Given the description of an element on the screen output the (x, y) to click on. 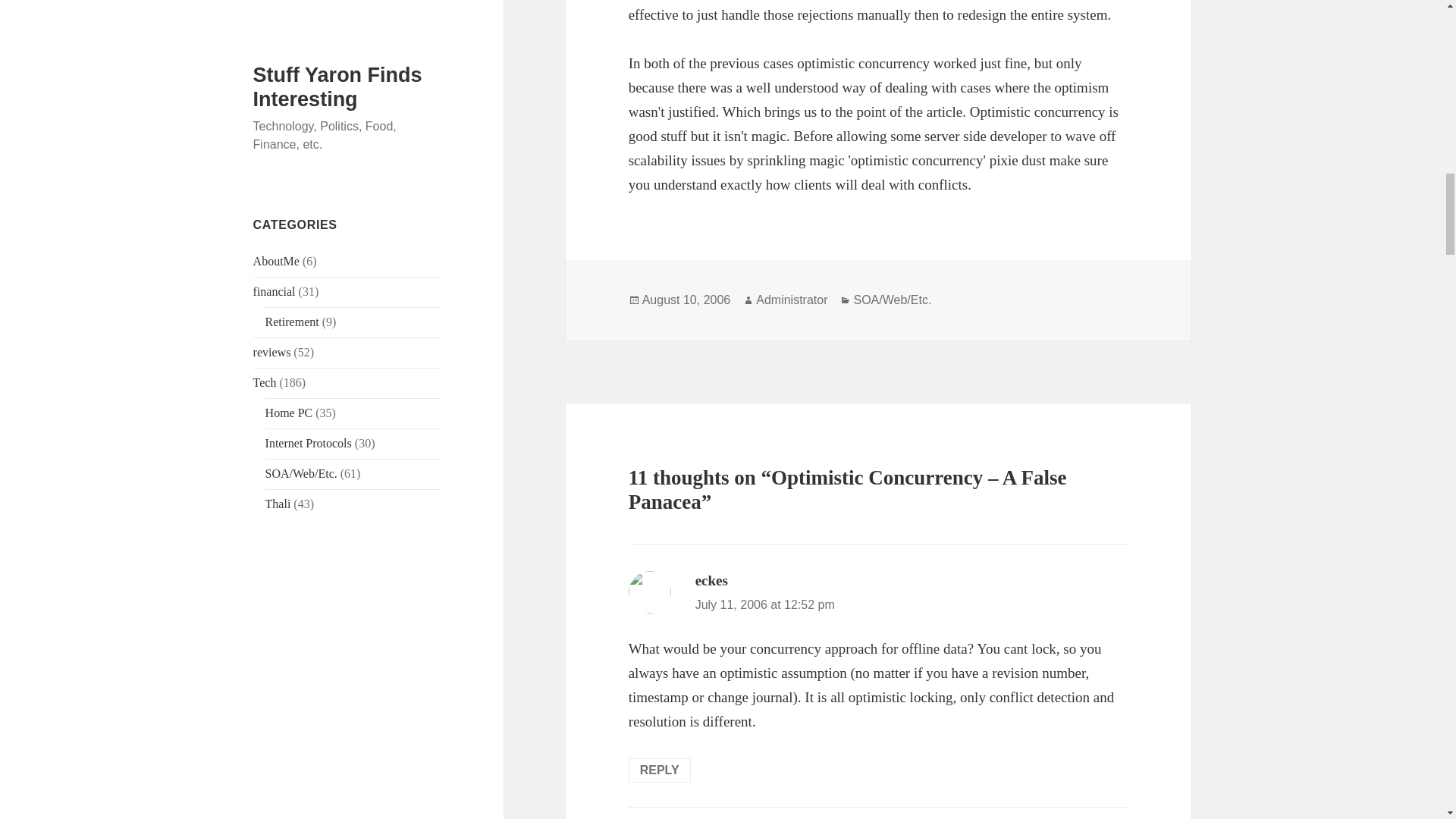
eckes (711, 580)
Administrator (791, 300)
July 11, 2006 at 12:52 pm (764, 604)
REPLY (659, 770)
August 10, 2006 (686, 300)
